Given the description of an element on the screen output the (x, y) to click on. 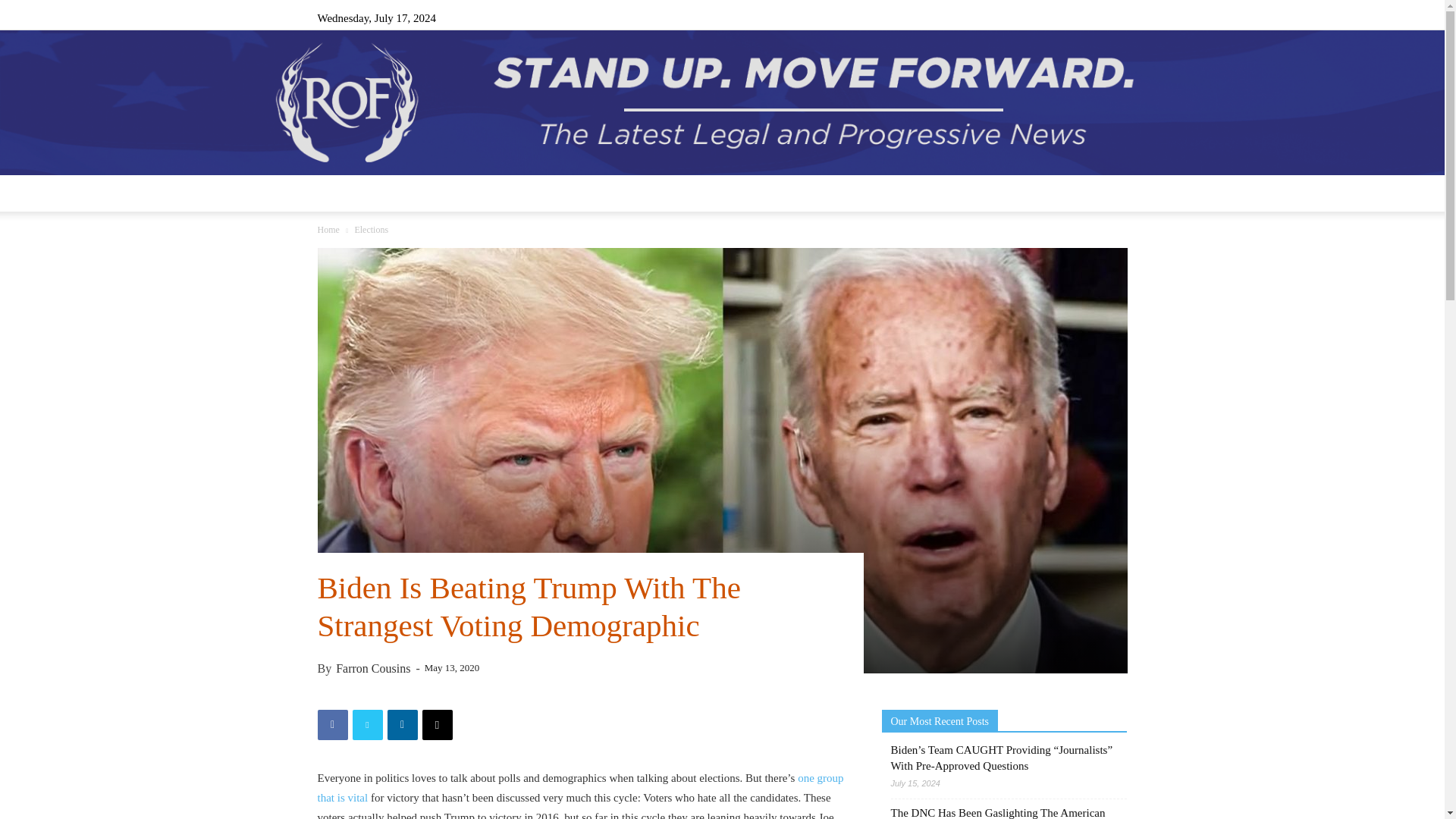
Twitter (1090, 17)
Instagram (1040, 17)
Youtube (1114, 17)
RSS (1065, 17)
Facebook (1015, 17)
